Given the description of an element on the screen output the (x, y) to click on. 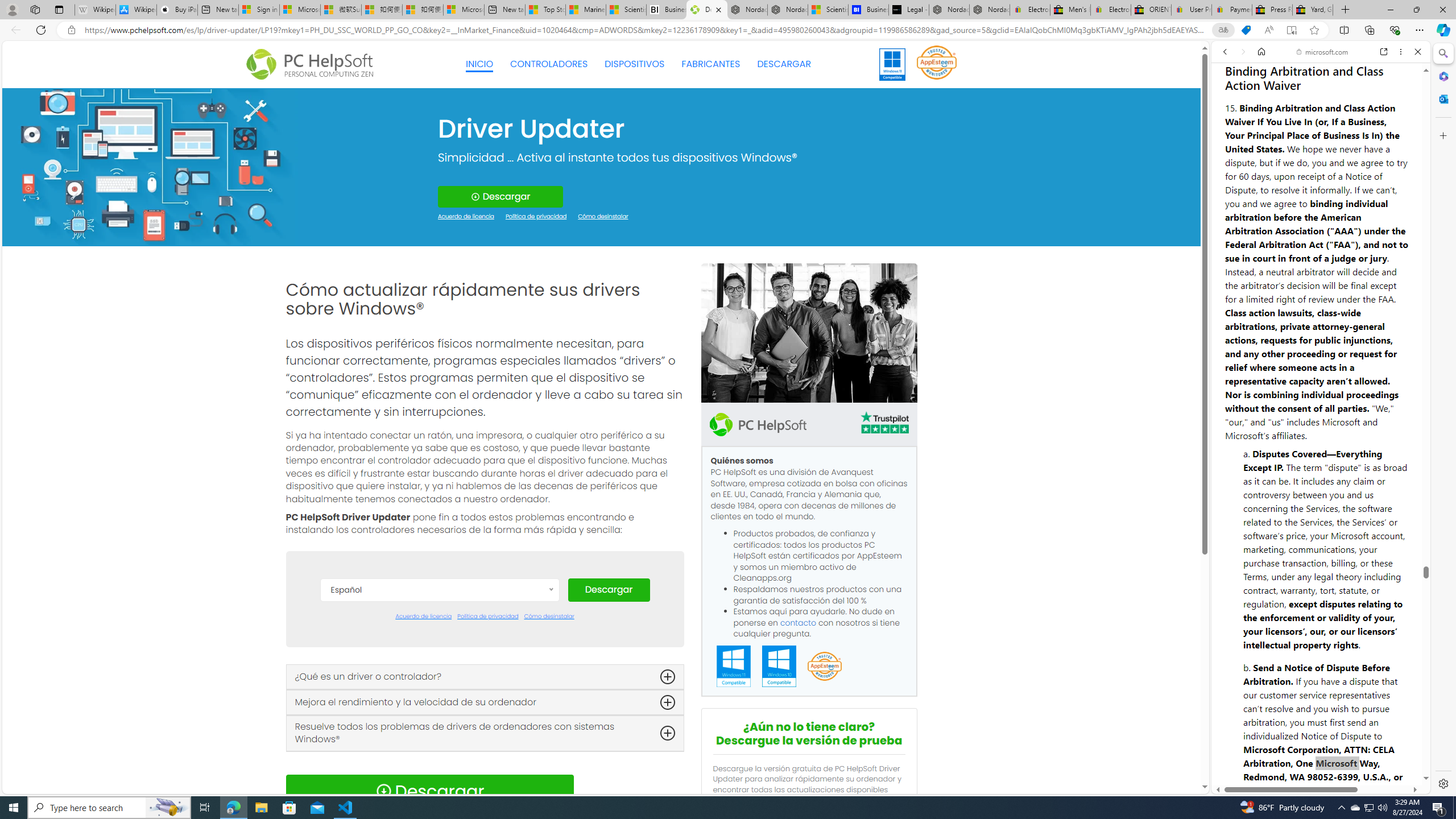
Logo Personal Computing (313, 64)
team (808, 332)
Acuerdo de licencia (423, 615)
PCHelpsoft (757, 423)
Deutsch (439, 678)
Descargar (608, 589)
